Given the description of an element on the screen output the (x, y) to click on. 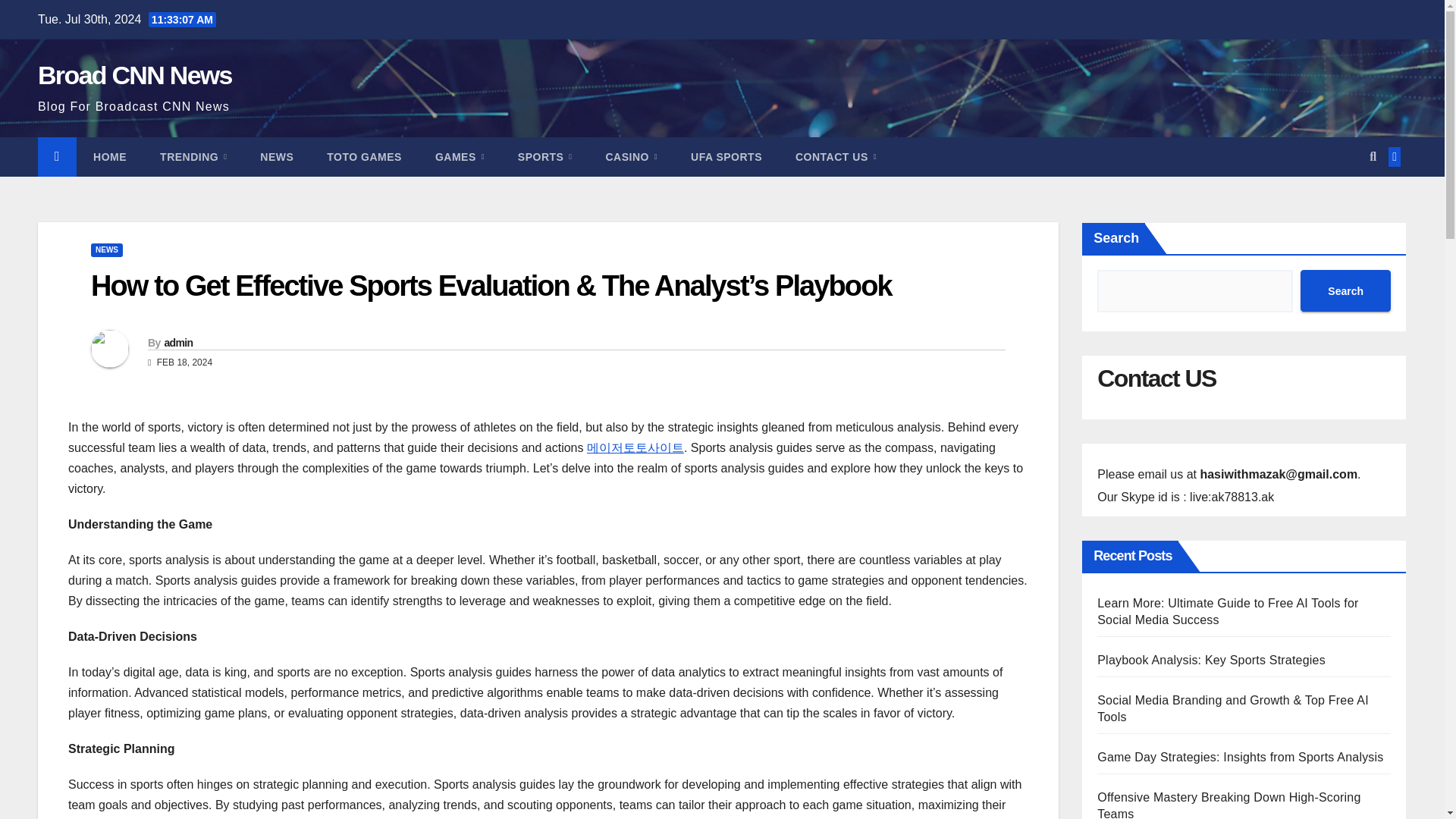
HOME (109, 156)
Games (459, 156)
NEWS (106, 250)
GAMES (459, 156)
Broad CNN News (134, 74)
SPORTS (544, 156)
UFA SPORTS (726, 156)
CONTACT US (835, 156)
Toto Games (364, 156)
News (276, 156)
admin (177, 342)
TOTO GAMES (364, 156)
NEWS (276, 156)
TRENDING (192, 156)
Trending (192, 156)
